Given the description of an element on the screen output the (x, y) to click on. 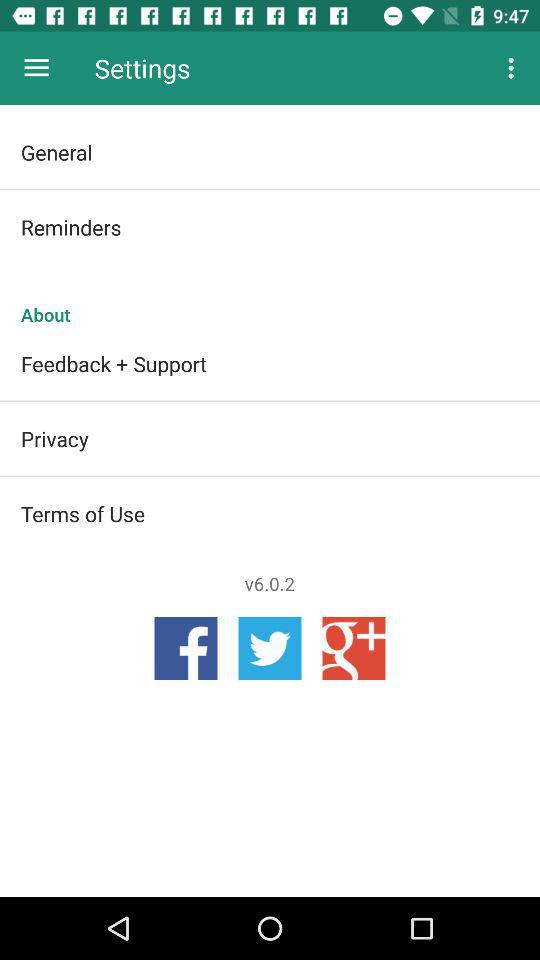
launch item above general icon (513, 67)
